Given the description of an element on the screen output the (x, y) to click on. 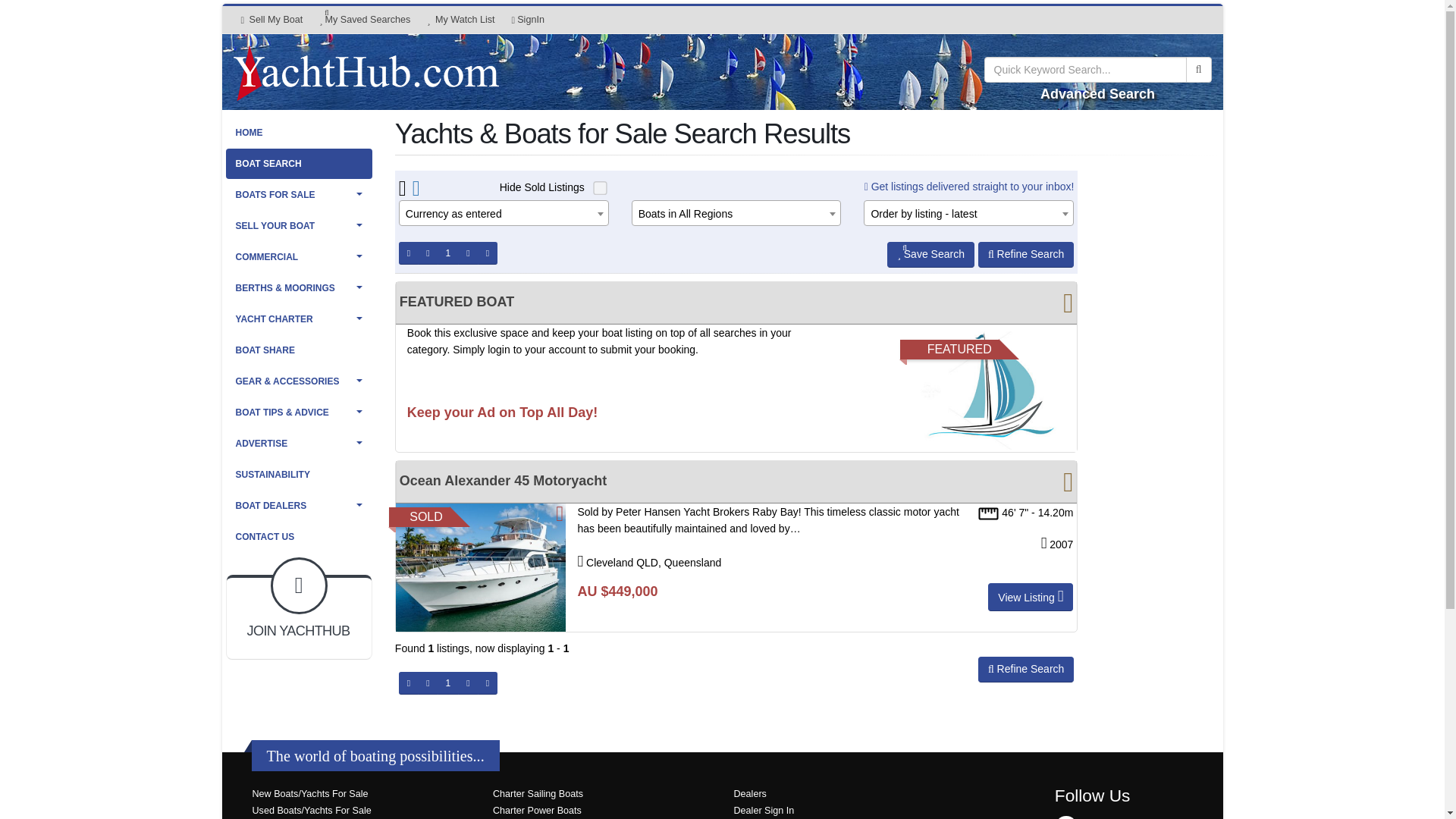
My Watch List (460, 19)
Order by listing - latest (968, 213)
yes (597, 185)
Length (736, 213)
Sell My Boat (988, 513)
SignIn (271, 19)
Currency as entered (527, 19)
Facebook (503, 213)
My Saved Searches (1065, 817)
